Given the description of an element on the screen output the (x, y) to click on. 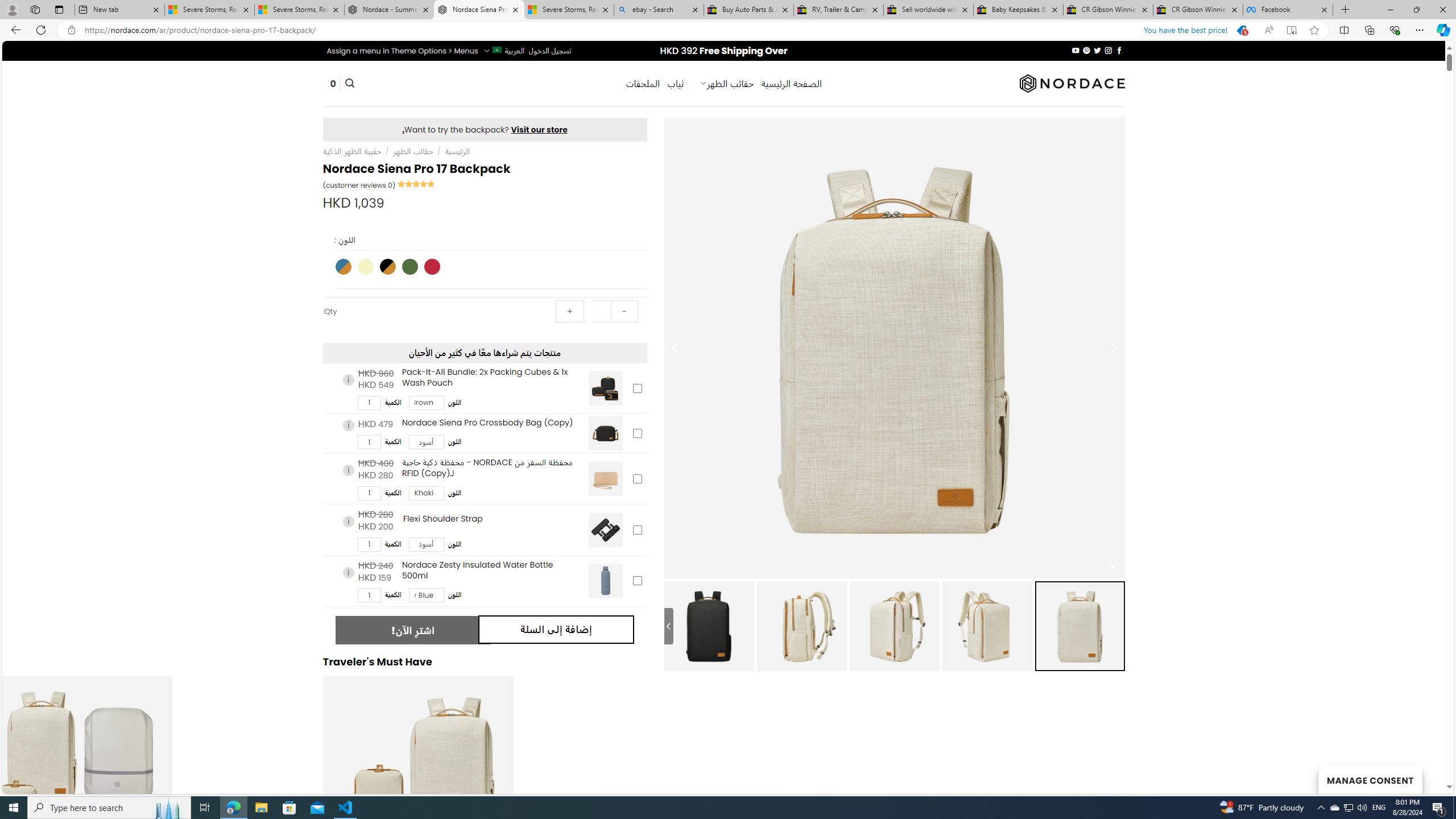
Class: iconic-woothumbs-fullscreen (1113, 566)
Nordace Zesty Insulated Water Bottle 500ml (605, 580)
- (623, 311)
Follow on Twitter (1096, 50)
Follow on Pinterest (1086, 50)
